Given the description of an element on the screen output the (x, y) to click on. 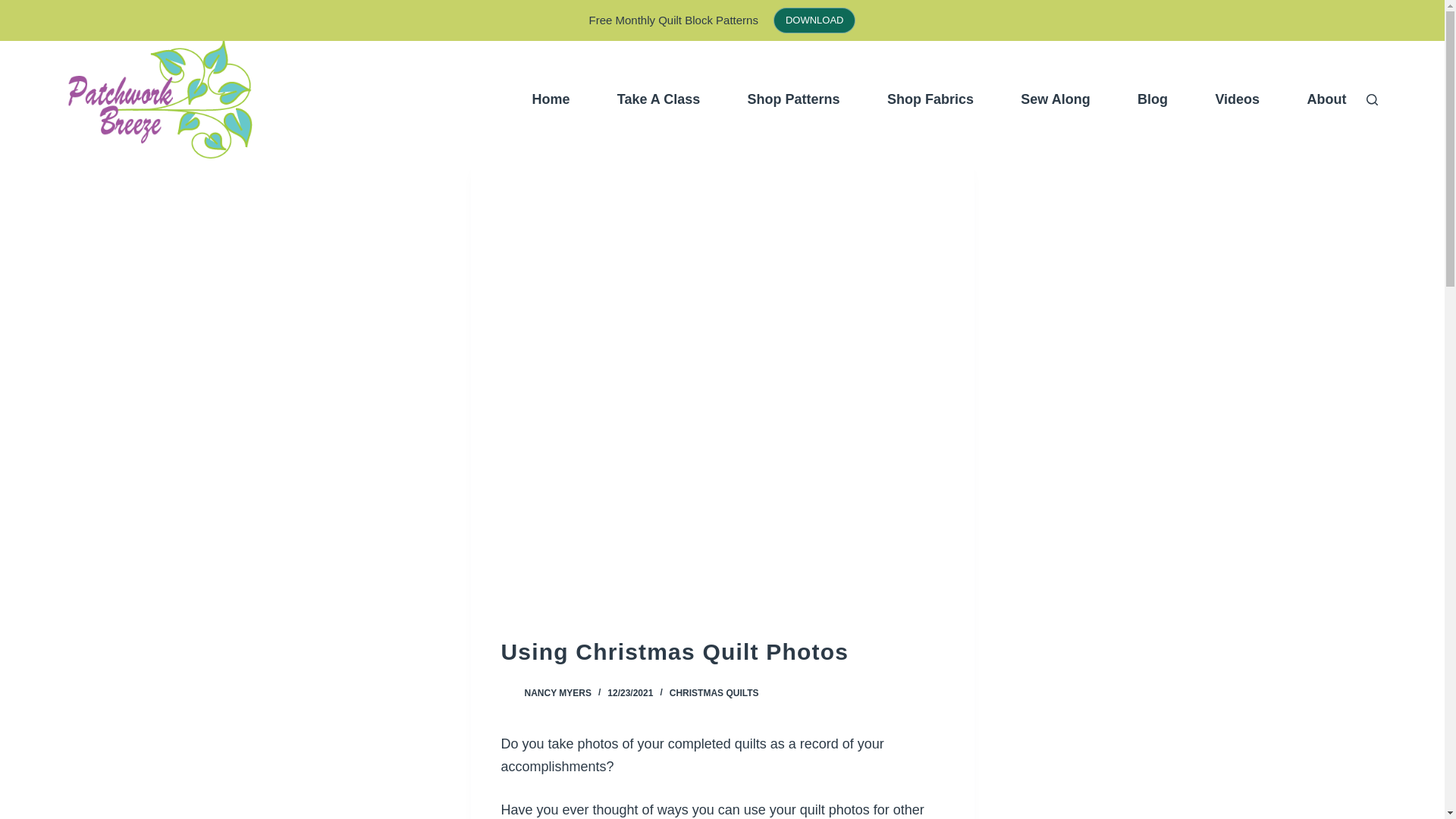
NANCY MYERS (557, 692)
Skip to content (15, 7)
Using Christmas Quilt Photos (721, 651)
DOWNLOAD (814, 20)
Posts by Nancy Myers (557, 692)
CHRISTMAS QUILTS (713, 692)
